Given the description of an element on the screen output the (x, y) to click on. 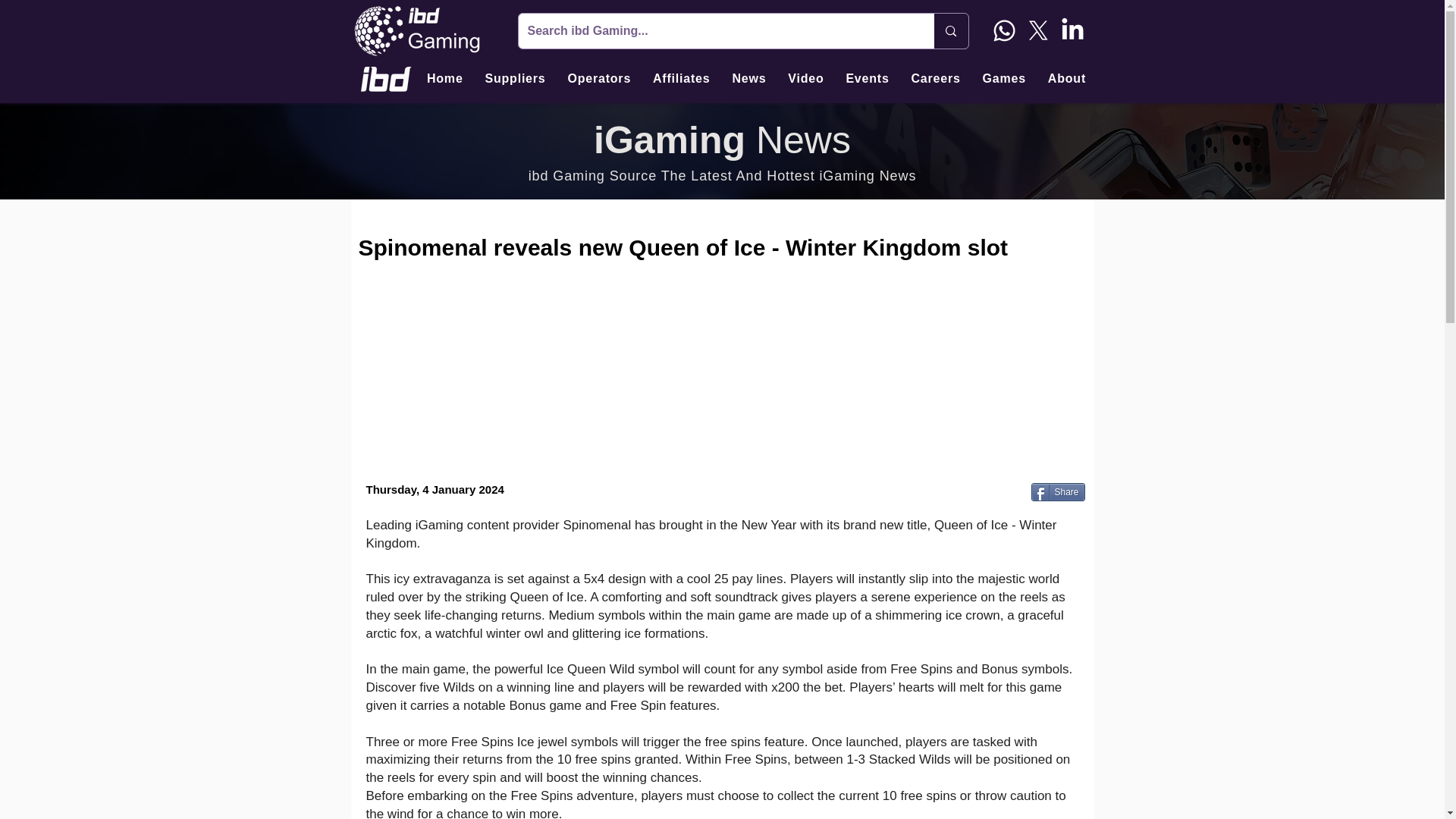
Home (444, 78)
News (748, 78)
Affiliates (681, 78)
Suppliers (515, 78)
Share (1057, 492)
Operators (599, 78)
